Given the description of an element on the screen output the (x, y) to click on. 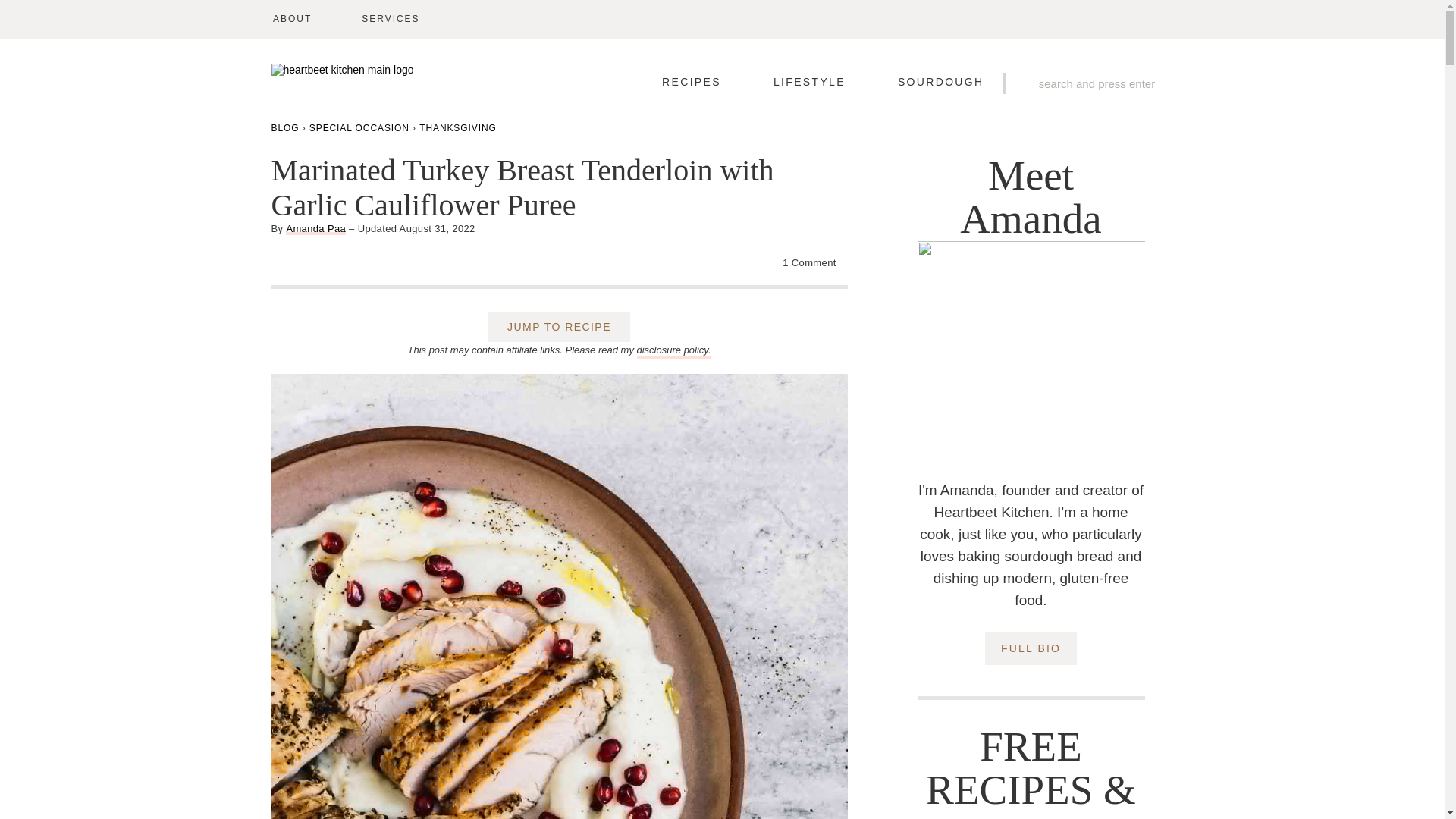
SERVICES (390, 18)
ABOUT (292, 18)
LIFESTYLE (809, 81)
SOURDOUGH (941, 81)
RECIPES (691, 81)
